Given the description of an element on the screen output the (x, y) to click on. 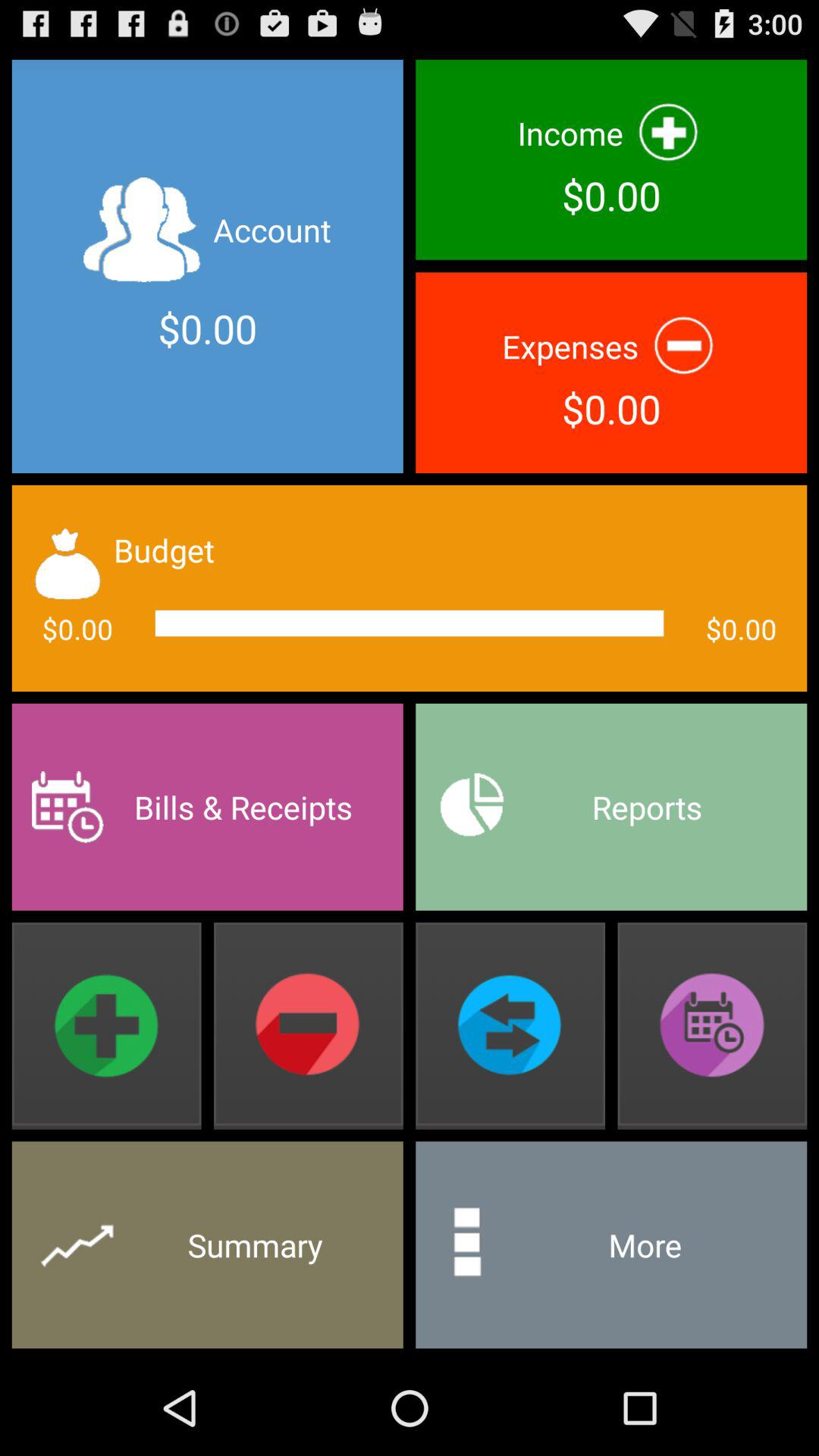
click on the text bills  receipts (207, 807)
select the fourth icon which is above the more icon (712, 1026)
click on reports (610, 807)
